Given the description of an element on the screen output the (x, y) to click on. 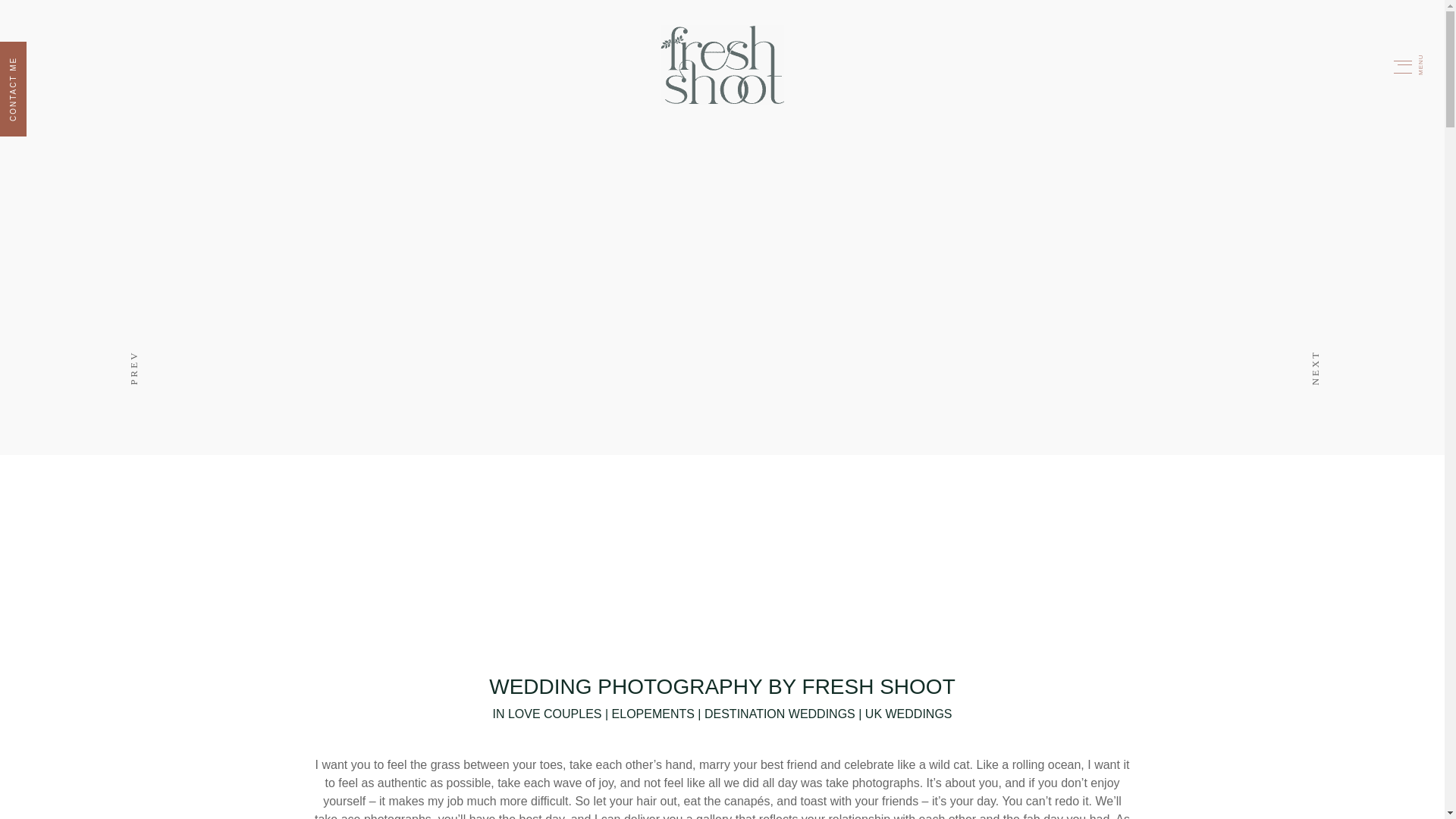
MENU (1422, 60)
CONTACT ME (47, 54)
